Given the description of an element on the screen output the (x, y) to click on. 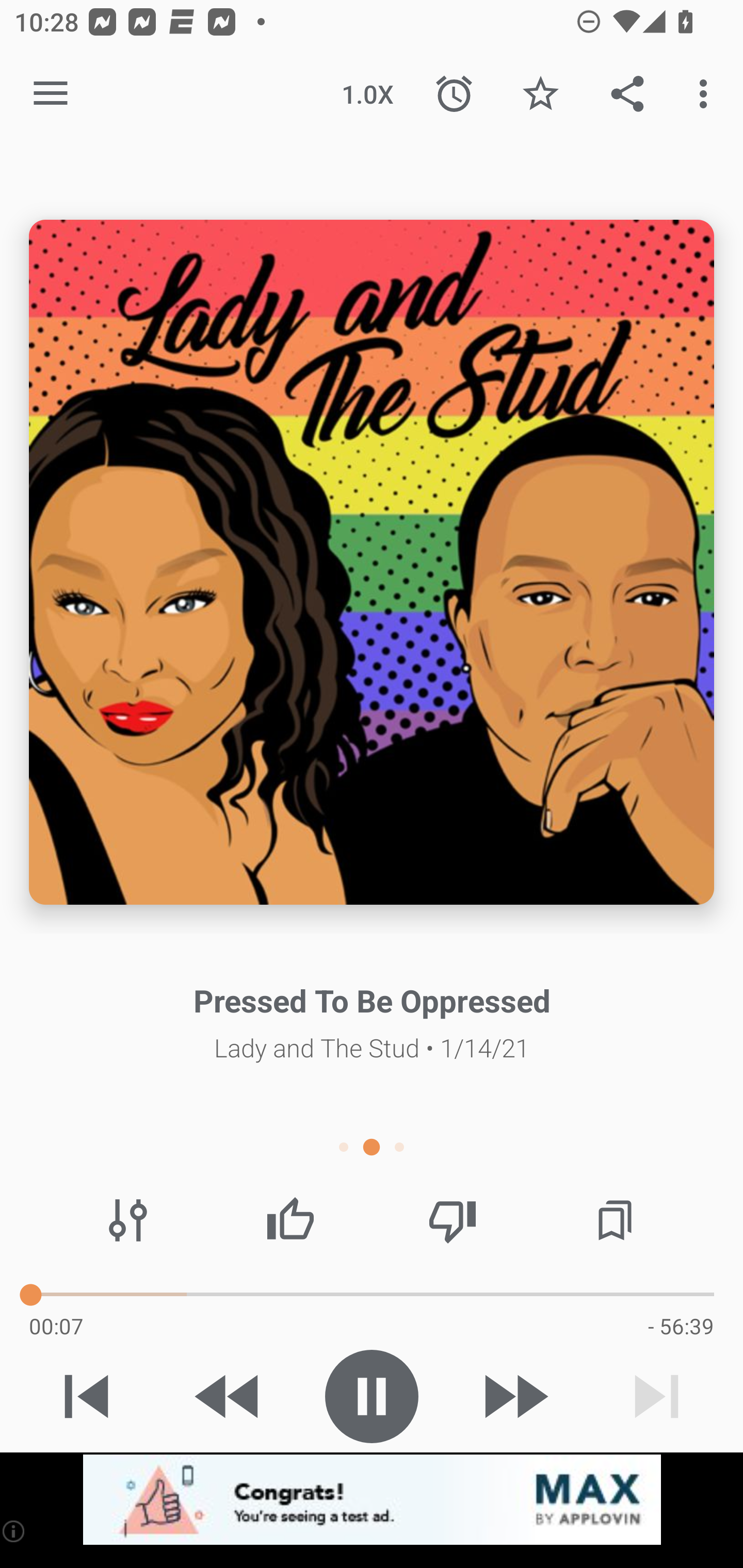
Open navigation sidebar (50, 93)
1.0X (366, 93)
Sleep Timer (453, 93)
Favorite (540, 93)
Share (626, 93)
More options (706, 93)
Episode description (371, 561)
Audio effects (127, 1220)
Thumbs up (290, 1220)
Thumbs down (452, 1220)
Chapters / Bookmarks (614, 1220)
- 56:39 (680, 1325)
Previous track (86, 1395)
Skip 15s backward (228, 1395)
Play / Pause (371, 1395)
Skip 30s forward (513, 1395)
Next track (656, 1395)
app-monetization (371, 1500)
(i) (14, 1531)
